Given the description of an element on the screen output the (x, y) to click on. 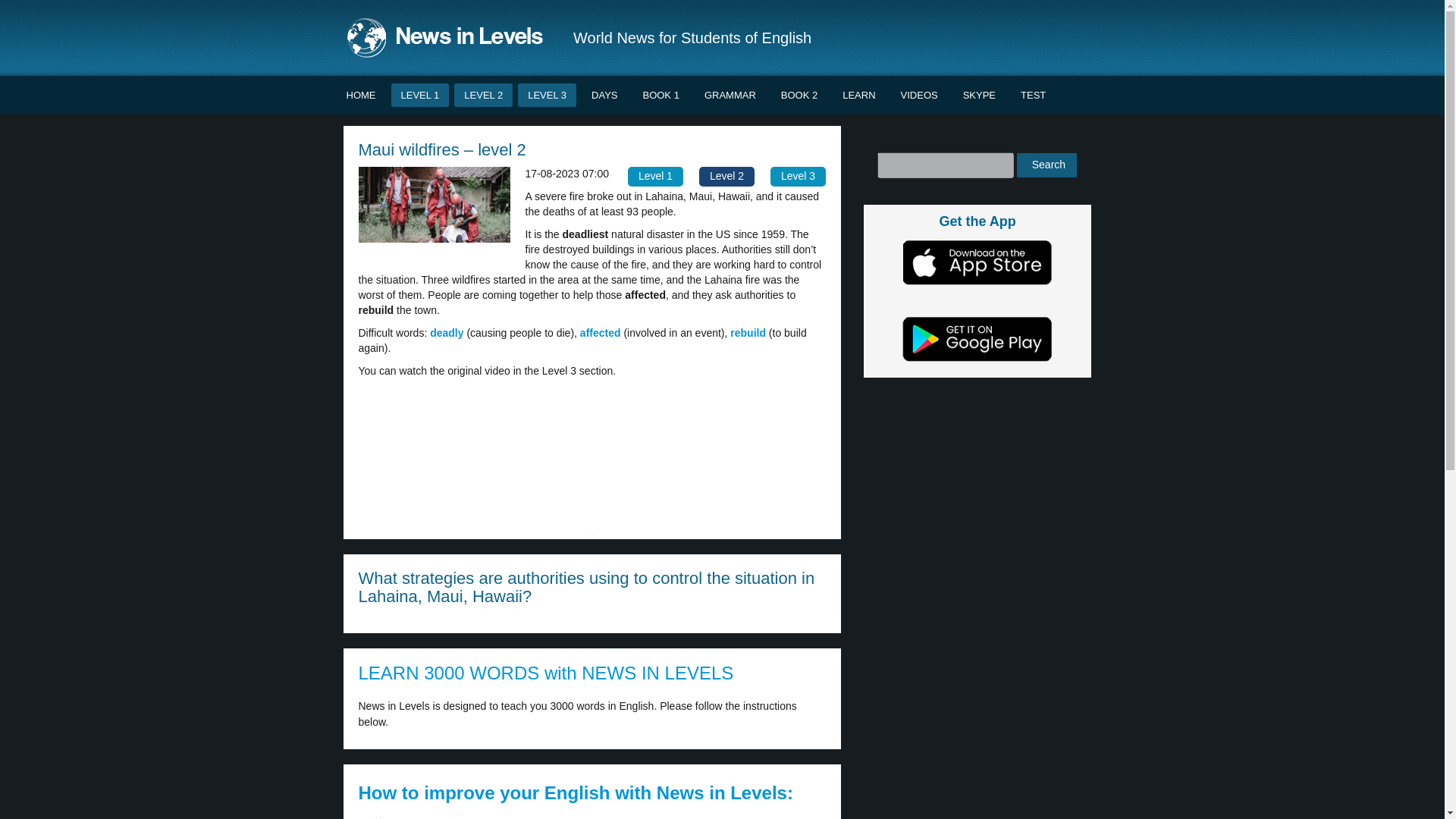
LEVEL 3 (547, 95)
LEVEL 1 (420, 95)
LEVEL 2 (483, 95)
BOOK 1 (659, 95)
TEST (1032, 95)
DAYS (603, 95)
GRAMMAR (729, 95)
LEARN (858, 95)
SKYPE (979, 95)
BOOK 2 (799, 95)
Level 1 (654, 176)
HOME (360, 95)
Search (1046, 165)
VIDEOS (919, 95)
